Given the description of an element on the screen output the (x, y) to click on. 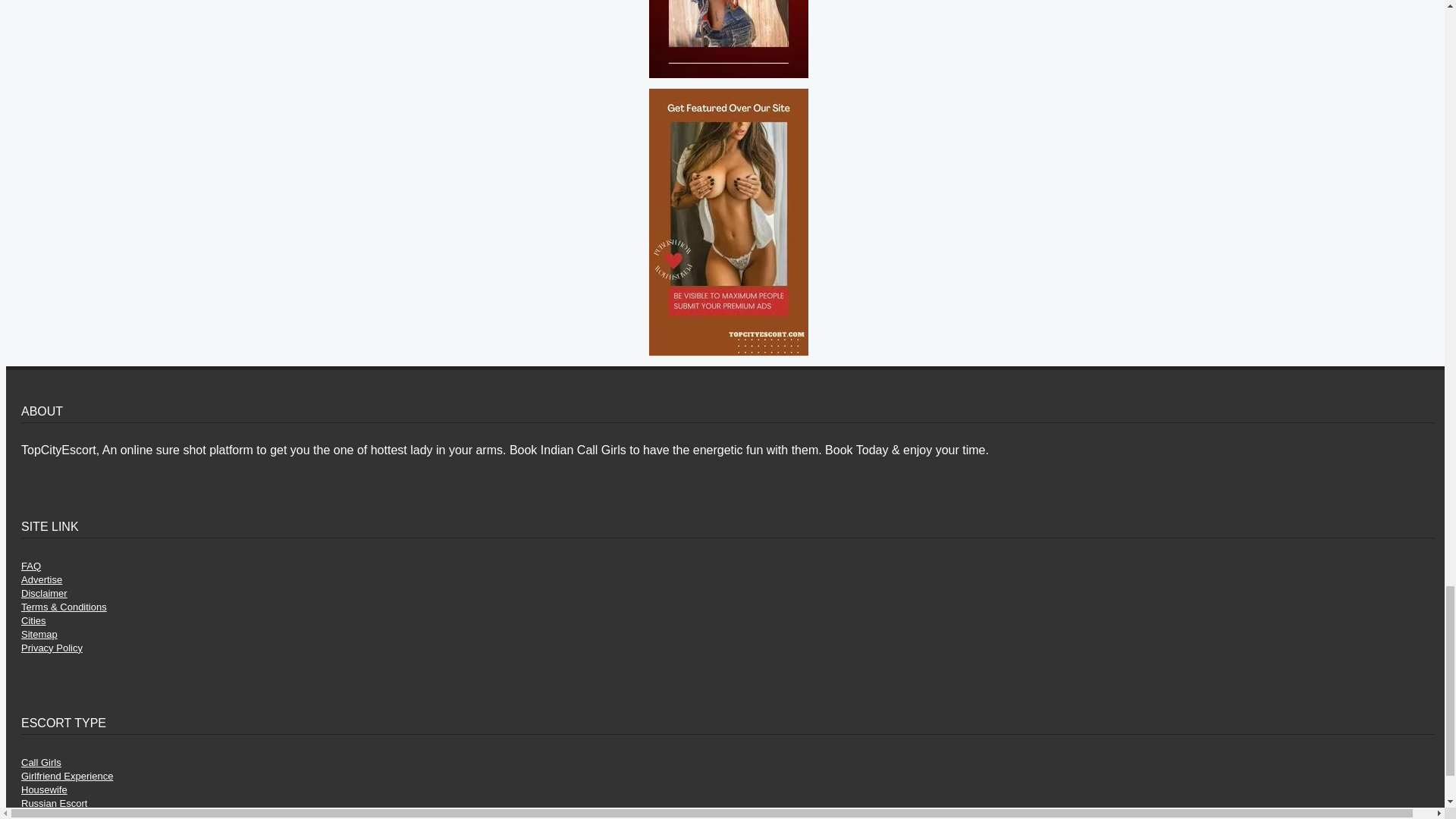
Housewife (43, 789)
Advertise (41, 579)
Disclaimer (43, 593)
Sitemap (39, 633)
Privacy Policy (51, 647)
Russian Escort (54, 803)
Girlfriend Experience (67, 776)
FAQ (30, 565)
Cities (33, 620)
Call Girls (41, 762)
